Given the description of an element on the screen output the (x, y) to click on. 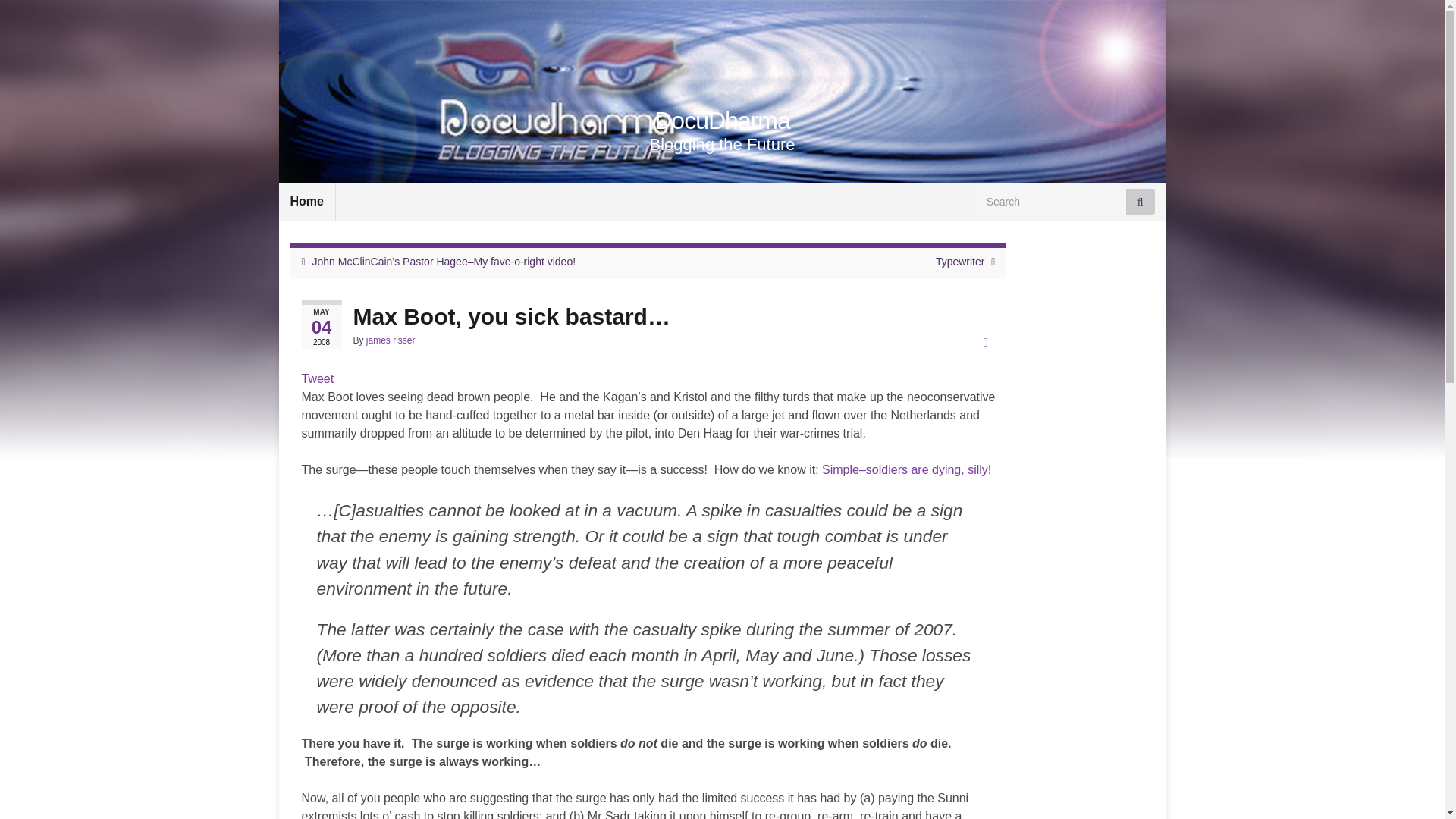
DocuDharma (721, 120)
Print this post (986, 341)
Tweet (317, 378)
Typewriter (960, 261)
Go back to the front page (721, 120)
james risser (390, 339)
Home (306, 201)
